Given the description of an element on the screen output the (x, y) to click on. 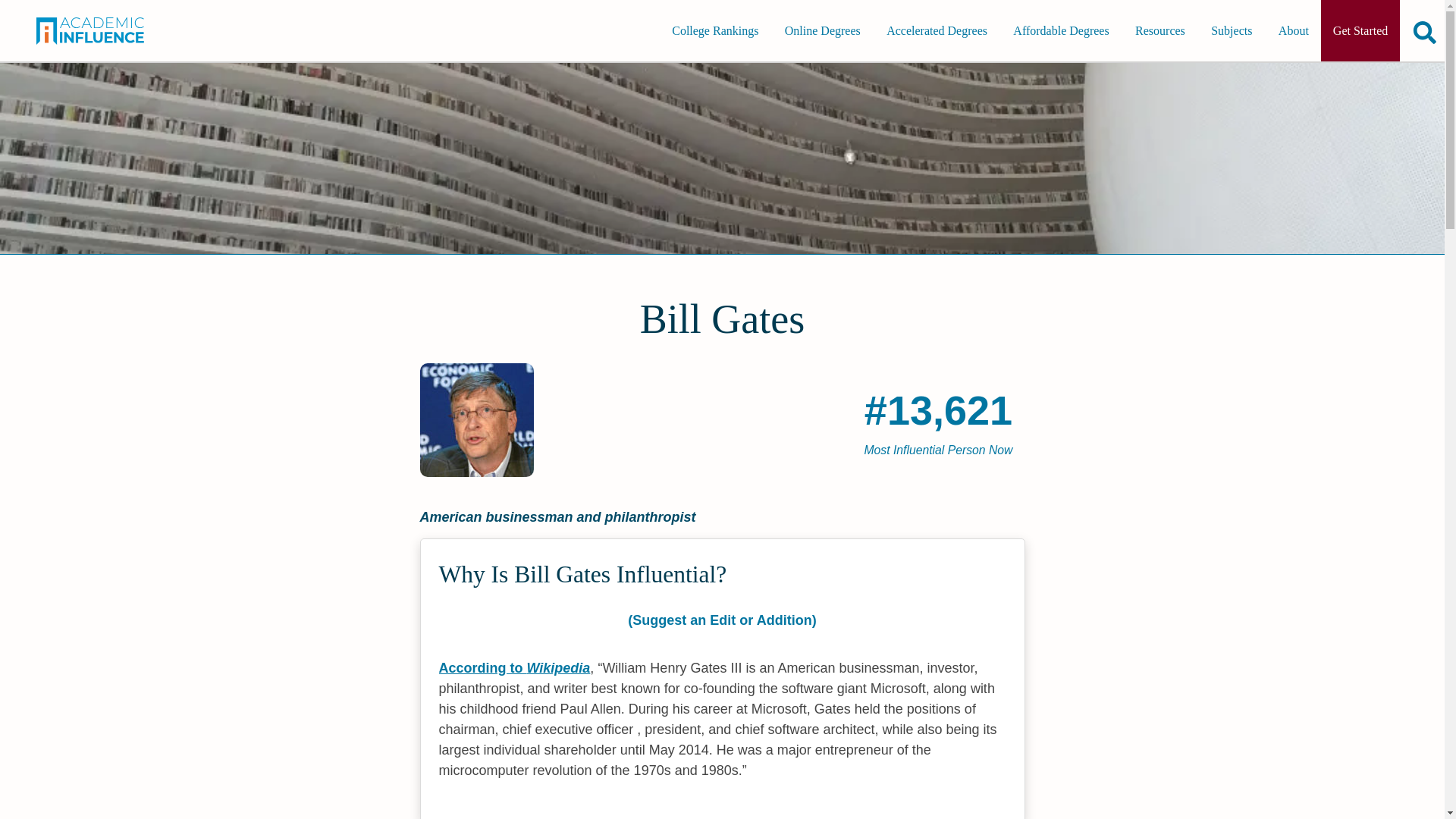
search academicinfluence.com (1425, 32)
Accelerated Degrees (936, 30)
Online Degrees (822, 30)
College Rankings (714, 30)
Affordable Degrees (1061, 30)
Subjects (1230, 30)
About (1293, 30)
Resources (1159, 30)
According to Wikipedia (513, 667)
Get Started (1359, 30)
